Given the description of an element on the screen output the (x, y) to click on. 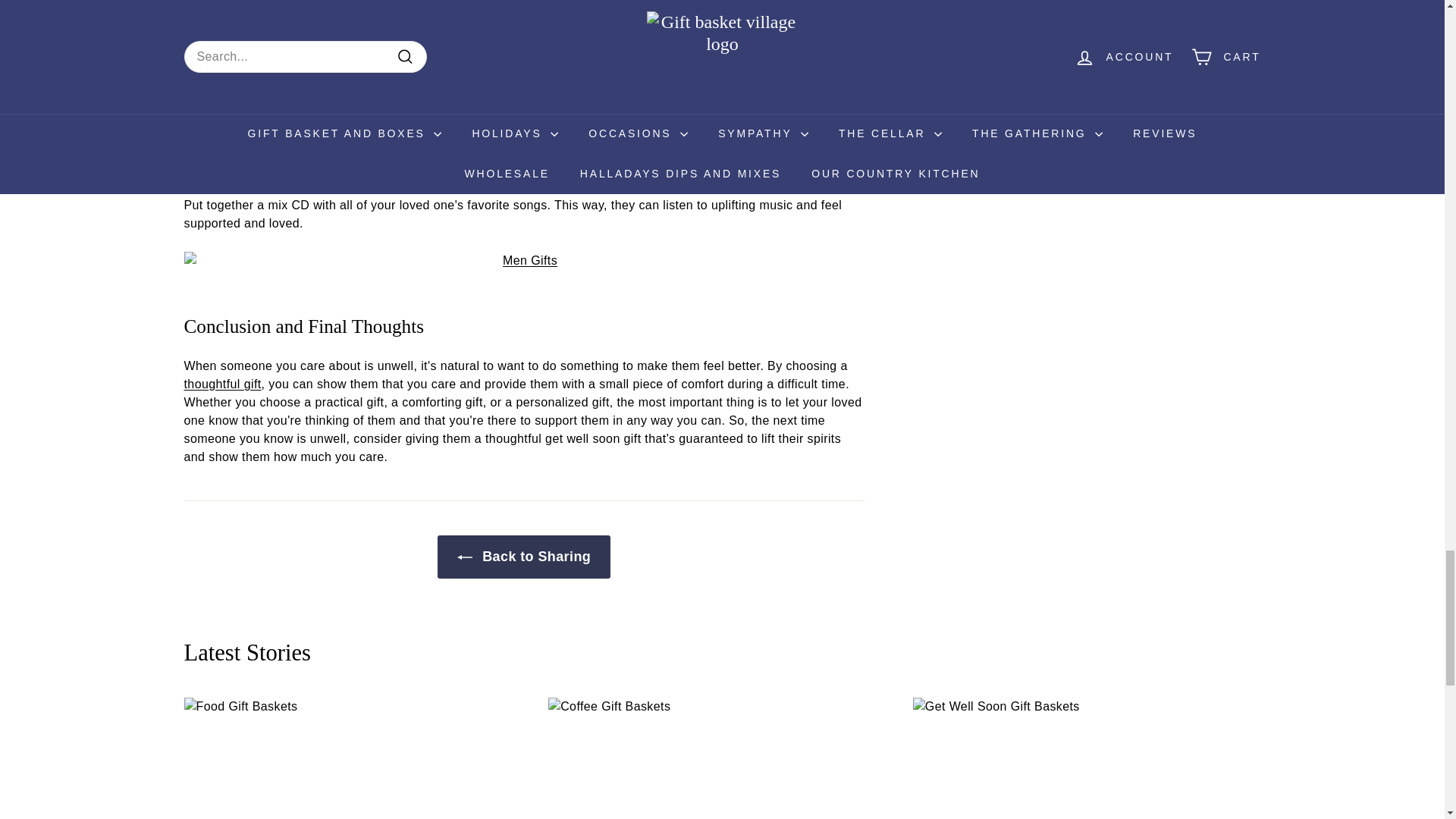
Soup gift Box (528, 19)
Gift Baskets for Men (523, 260)
icon-left-arrow (464, 557)
Gift Basket Village 5 O'clock Somewhere Medium Gift Basket (221, 383)
